Given the description of an element on the screen output the (x, y) to click on. 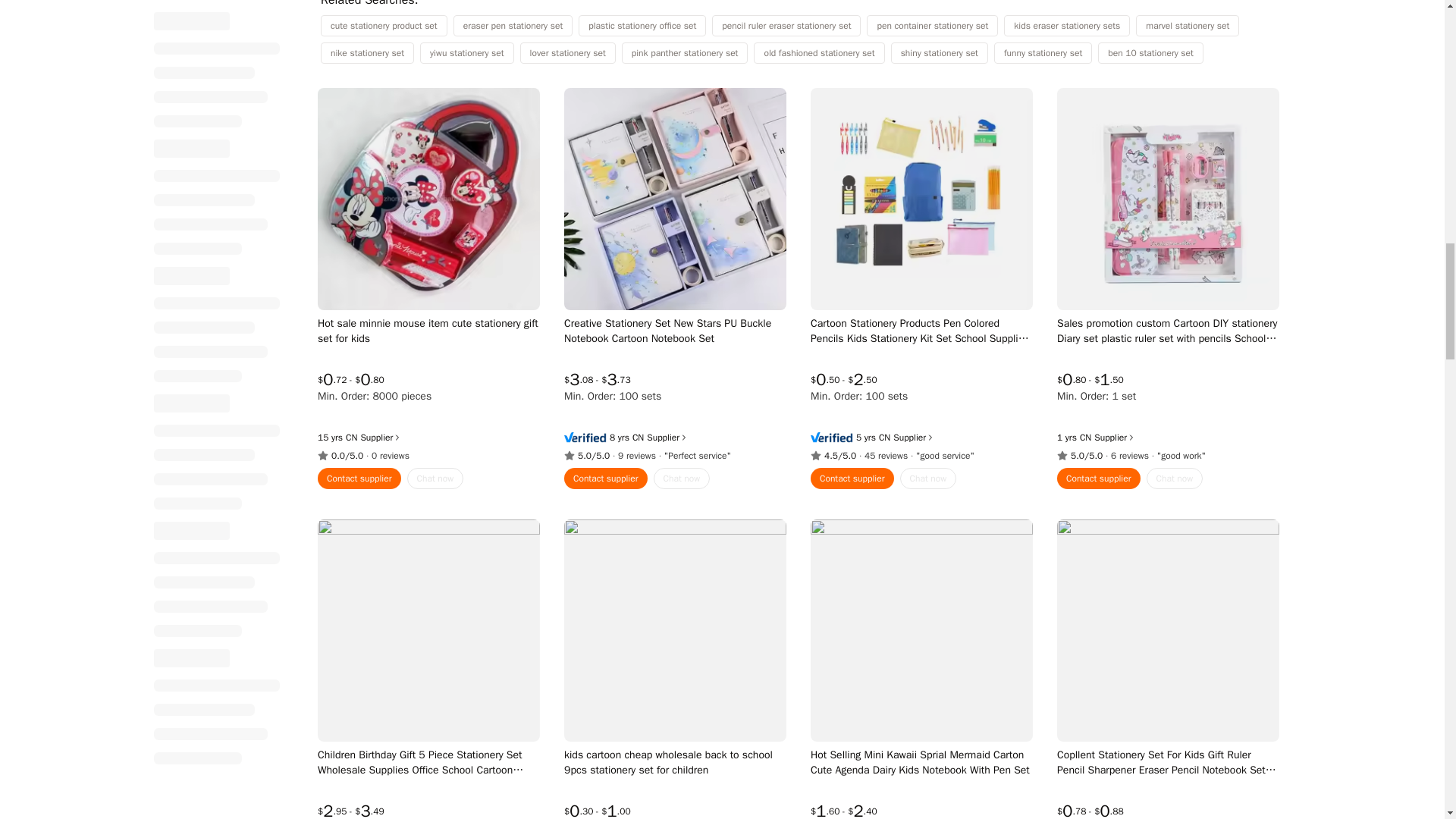
Ningbo Haoxuan Crafts Co., Ltd. (637, 437)
Guangzhou Zhongchuang Packing Products Co., Ltd. (351, 437)
Longgang City Senyuan Paper Plastic Products Factory (1084, 437)
